Given the description of an element on the screen output the (x, y) to click on. 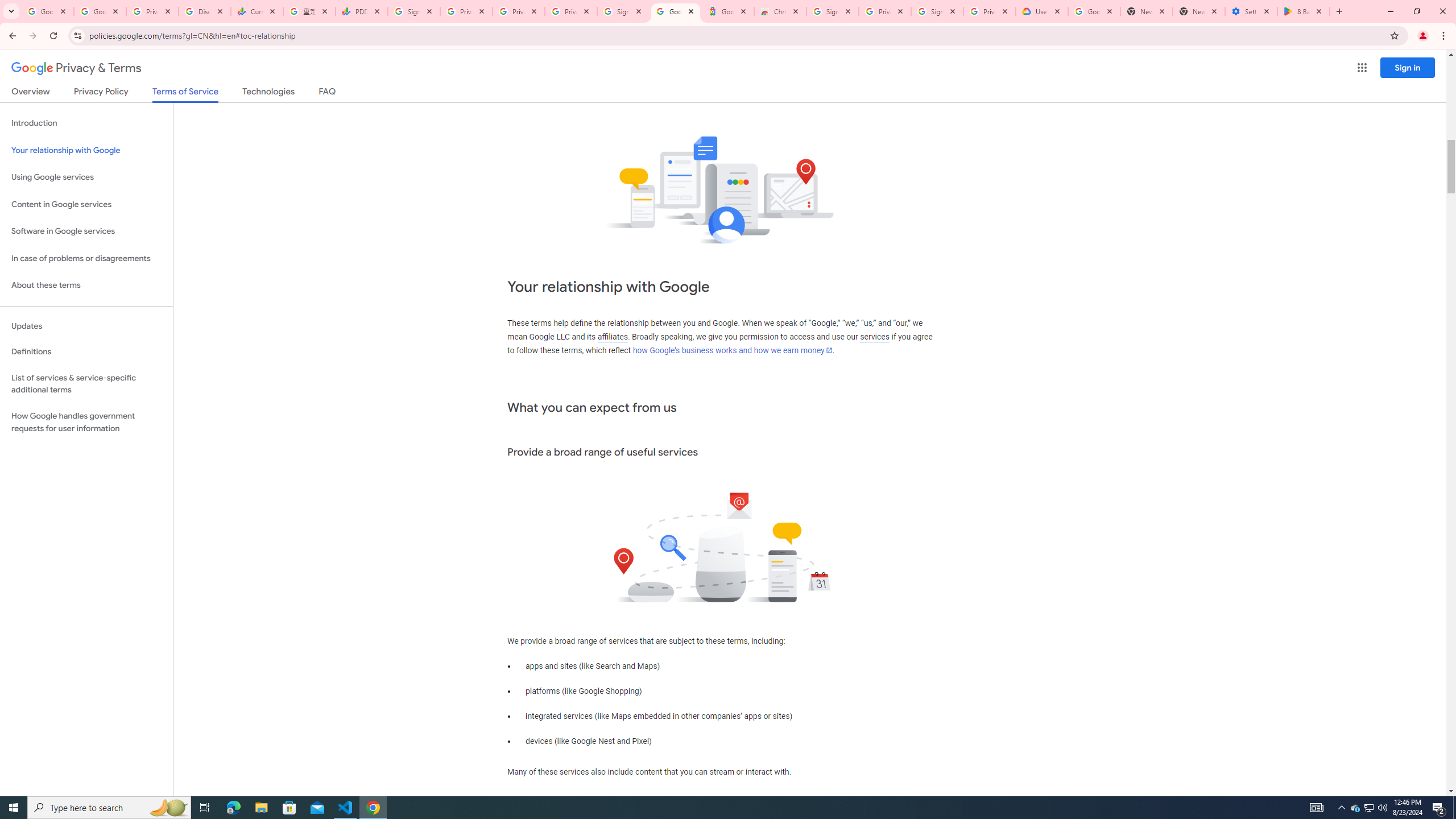
Software in Google services (86, 230)
Definitions (86, 352)
